Given the description of an element on the screen output the (x, y) to click on. 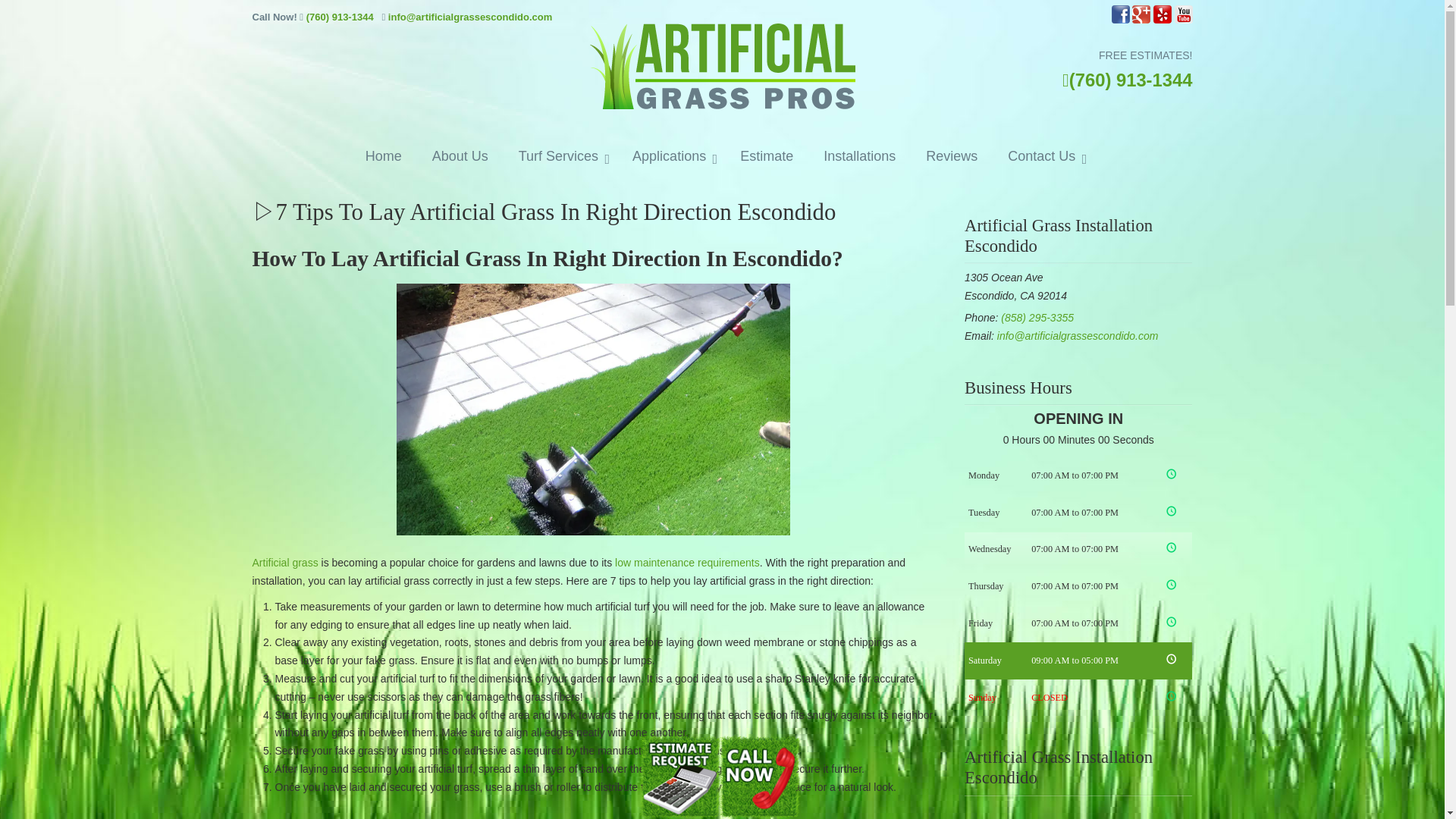
Reviews (951, 156)
Applications (671, 156)
low maintenance requirements (687, 562)
Contact Us (1043, 156)
YouTube (1182, 19)
About Us (459, 156)
Turf Services (560, 156)
Yelp (1162, 19)
Home (383, 156)
